Given the description of an element on the screen output the (x, y) to click on. 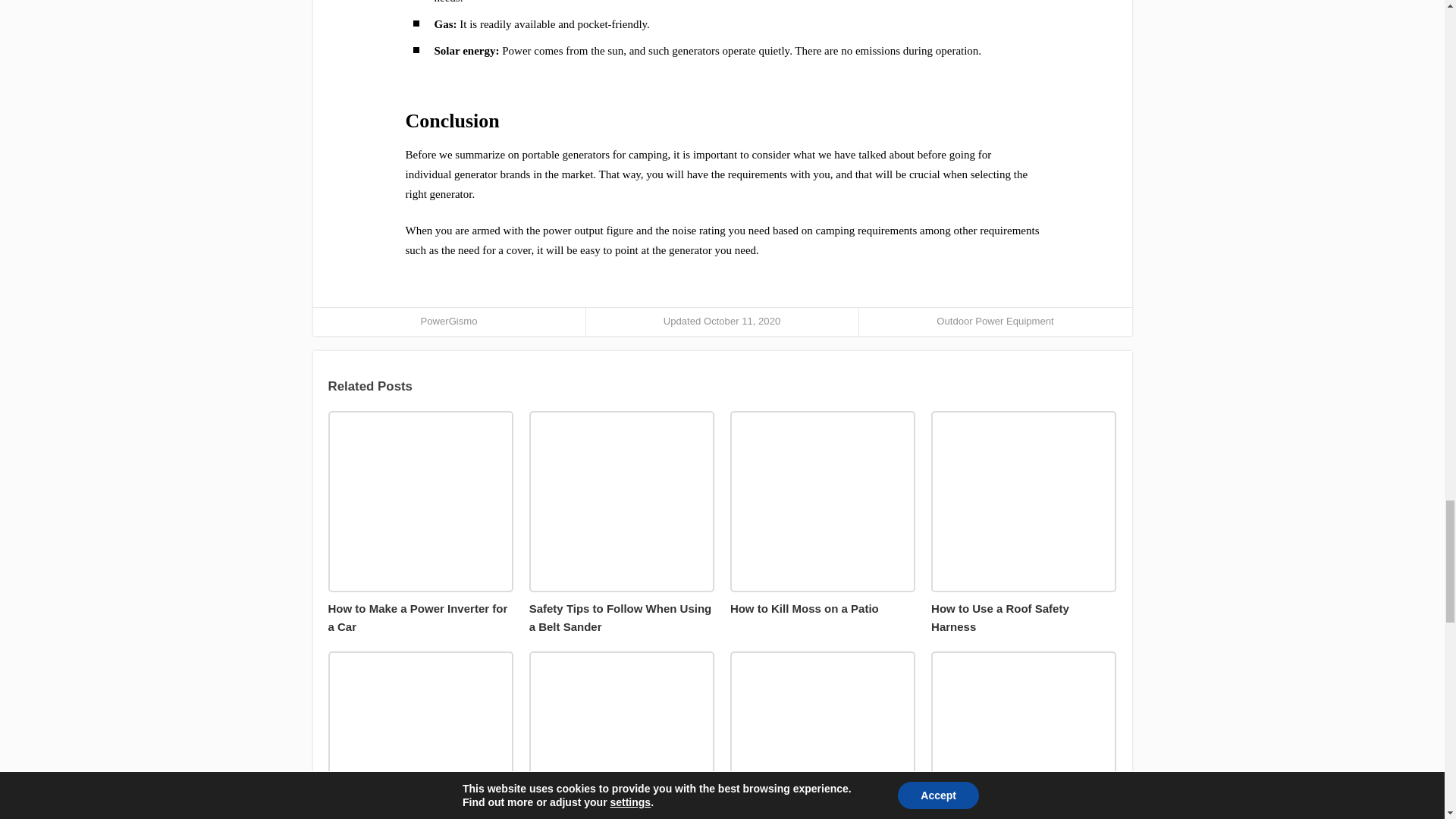
How to Kill Moss on a Patio (822, 514)
PowerGismo (448, 320)
Outdoor Power Equipment (994, 320)
Tips on Building a Safe Kids Playground (1023, 735)
Best Top Handle Chainsaws for 2021 (621, 735)
